Given the description of an element on the screen output the (x, y) to click on. 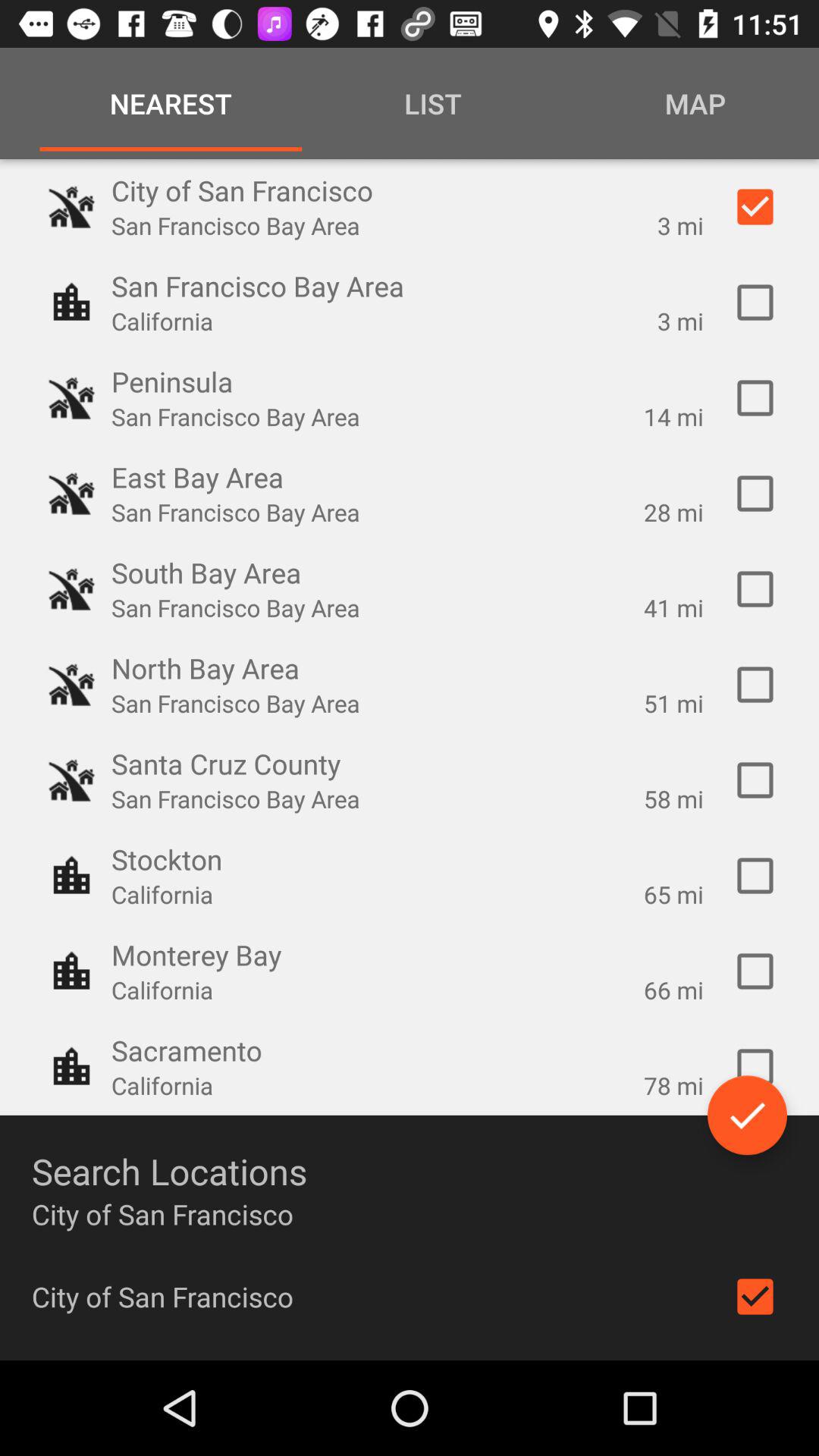
toggle east bay area (755, 493)
